Given the description of an element on the screen output the (x, y) to click on. 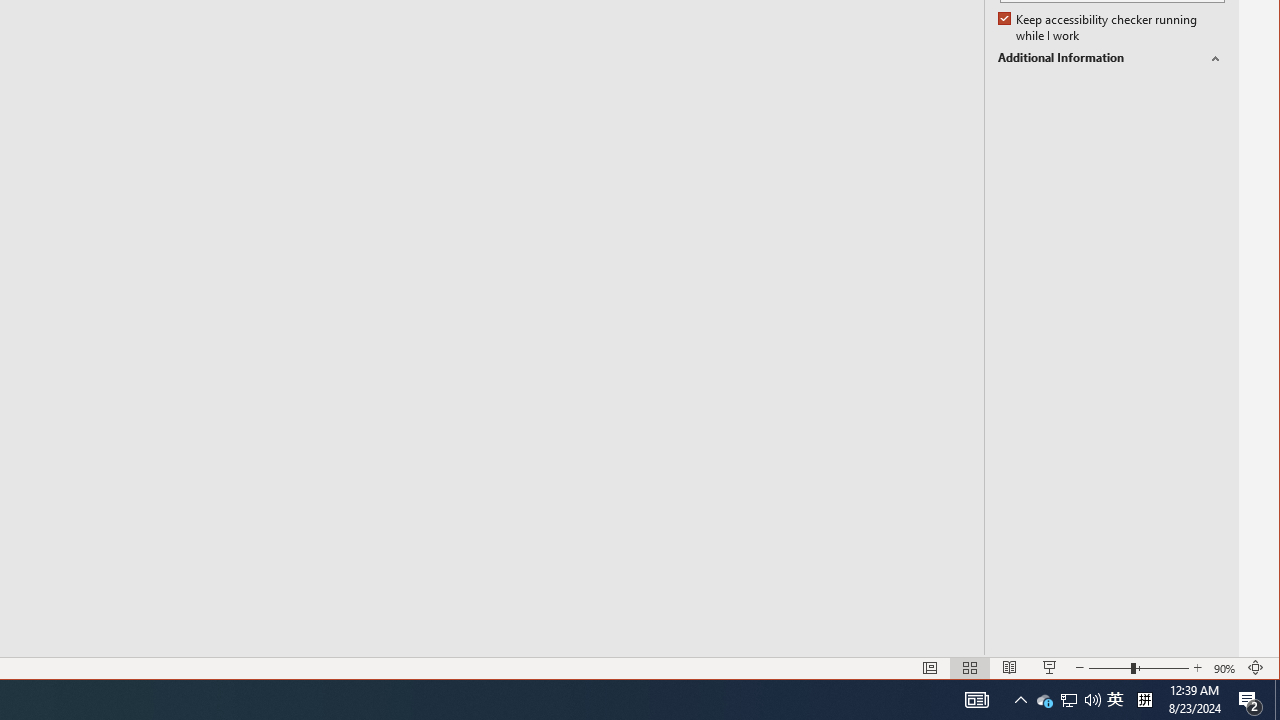
Zoom 90% (1225, 668)
